Given the description of an element on the screen output the (x, y) to click on. 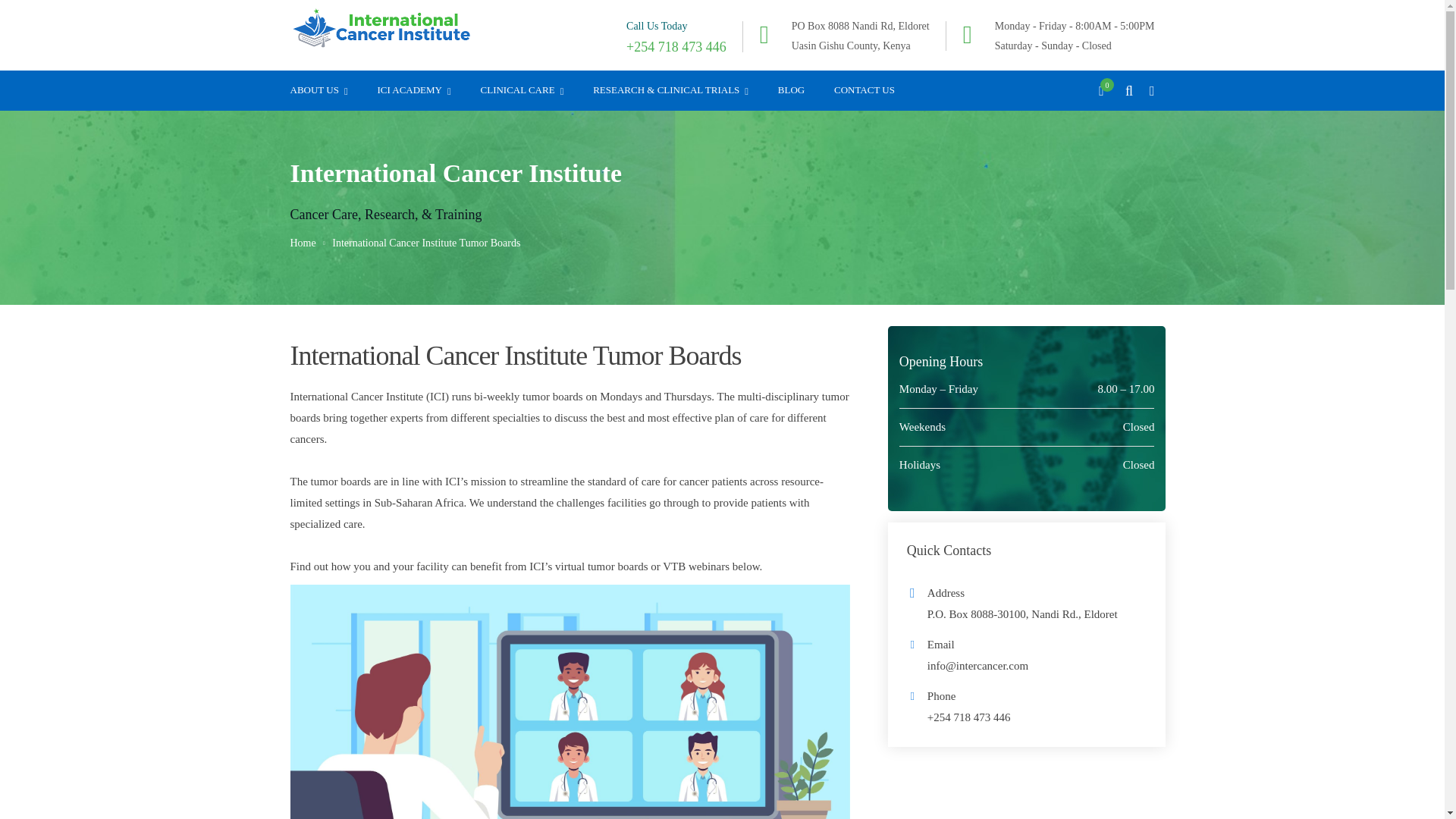
ICI ACADEMY (413, 90)
ABOUT US (318, 90)
5143336 (568, 701)
